Given the description of an element on the screen output the (x, y) to click on. 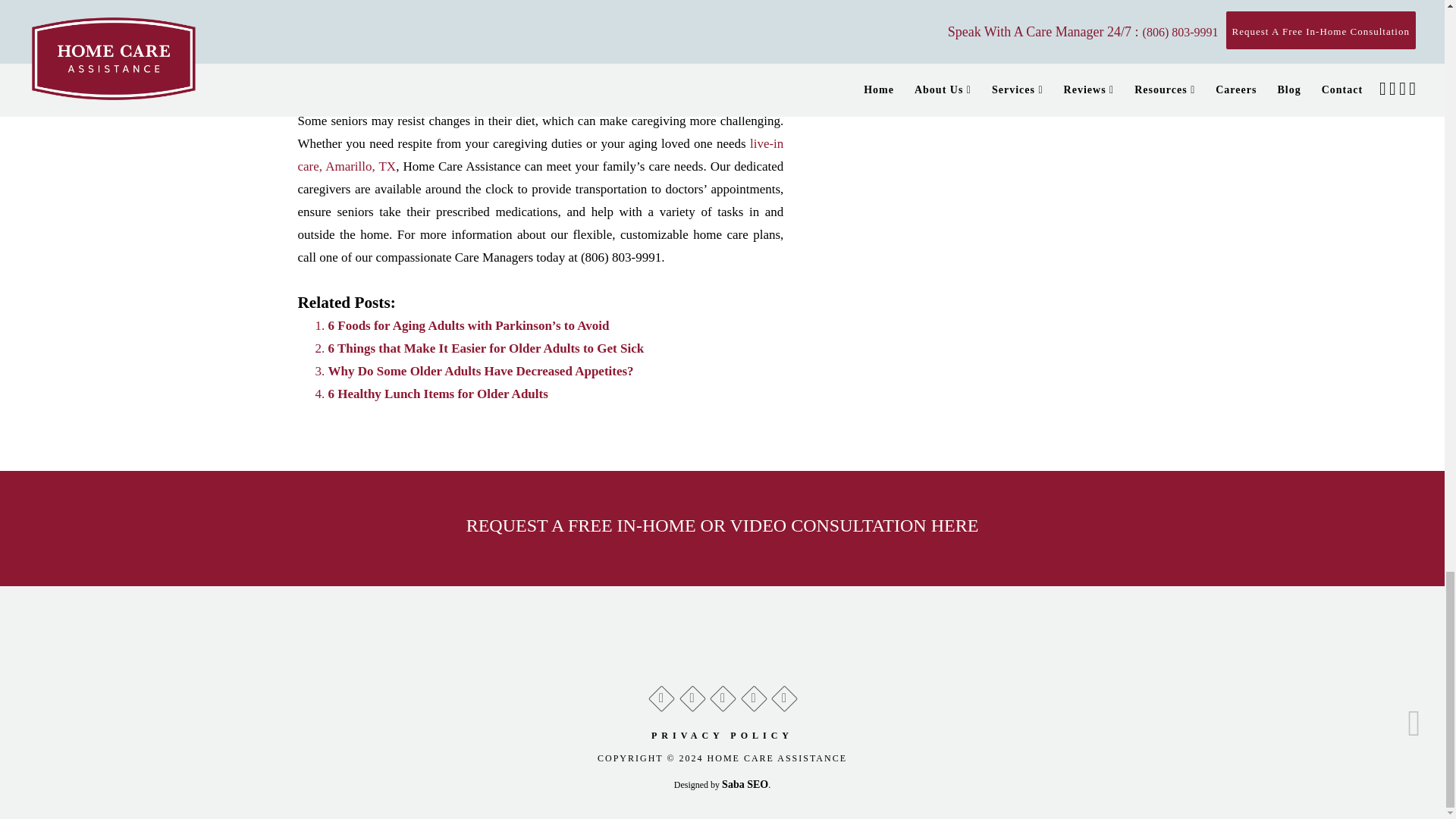
6 Healthy Lunch Items for Older Adults (437, 393)
LinkedIn (751, 694)
Facebook (691, 694)
6 Things that Make It Easier for Older Adults to Get Sick (485, 348)
Why Do Some Older Adults Have Decreased Appetites? (480, 370)
Google (659, 694)
Twitter (722, 694)
Youtube (783, 694)
